Given the description of an element on the screen output the (x, y) to click on. 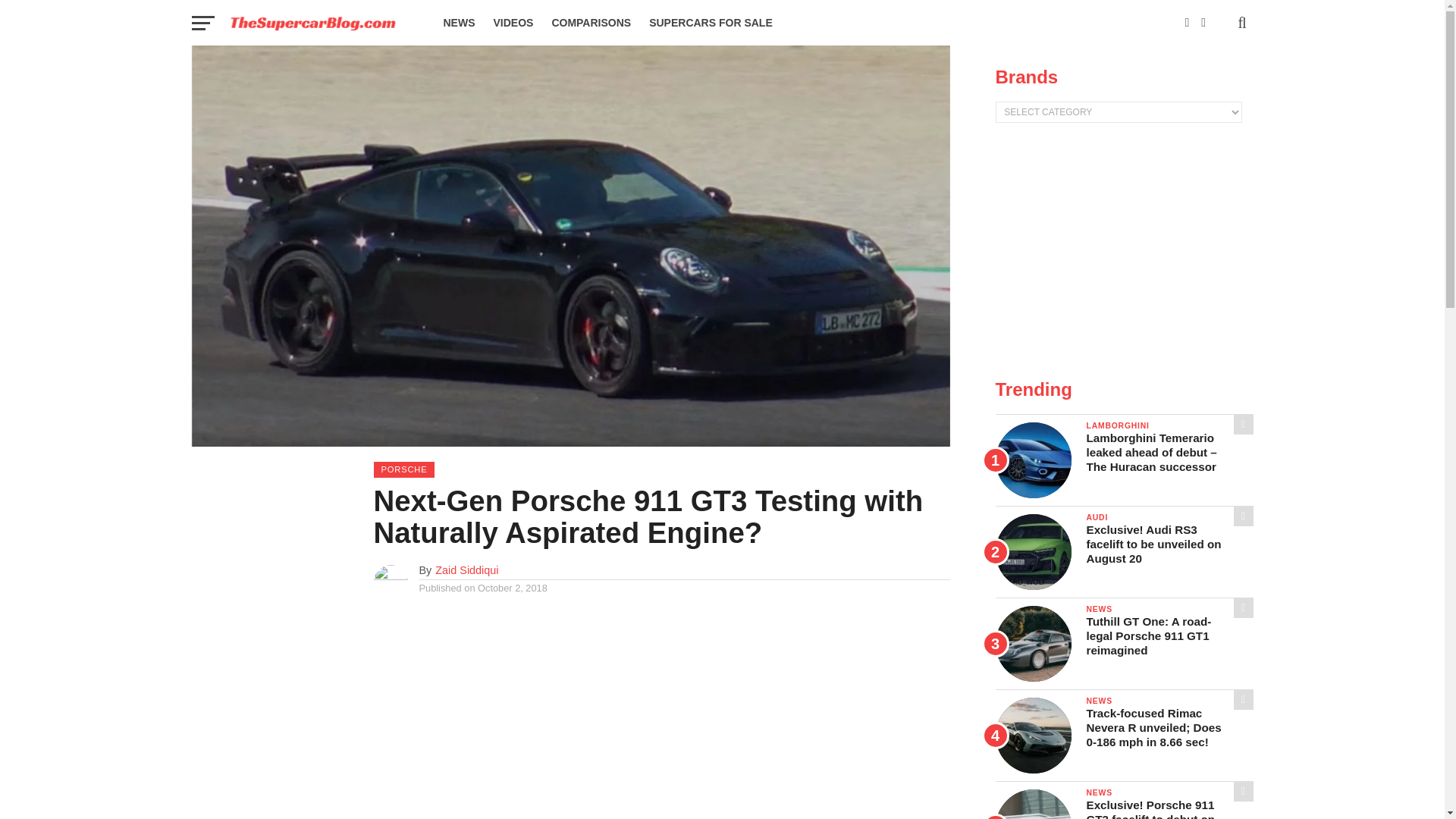
Posts by Zaid Siddiqui (466, 570)
Advertisement (1123, 251)
Zaid Siddiqui (466, 570)
Advertisement (660, 716)
COMPARISONS (590, 22)
SUPERCARS FOR SALE (710, 22)
VIDEOS (512, 22)
NEWS (458, 22)
